Given the description of an element on the screen output the (x, y) to click on. 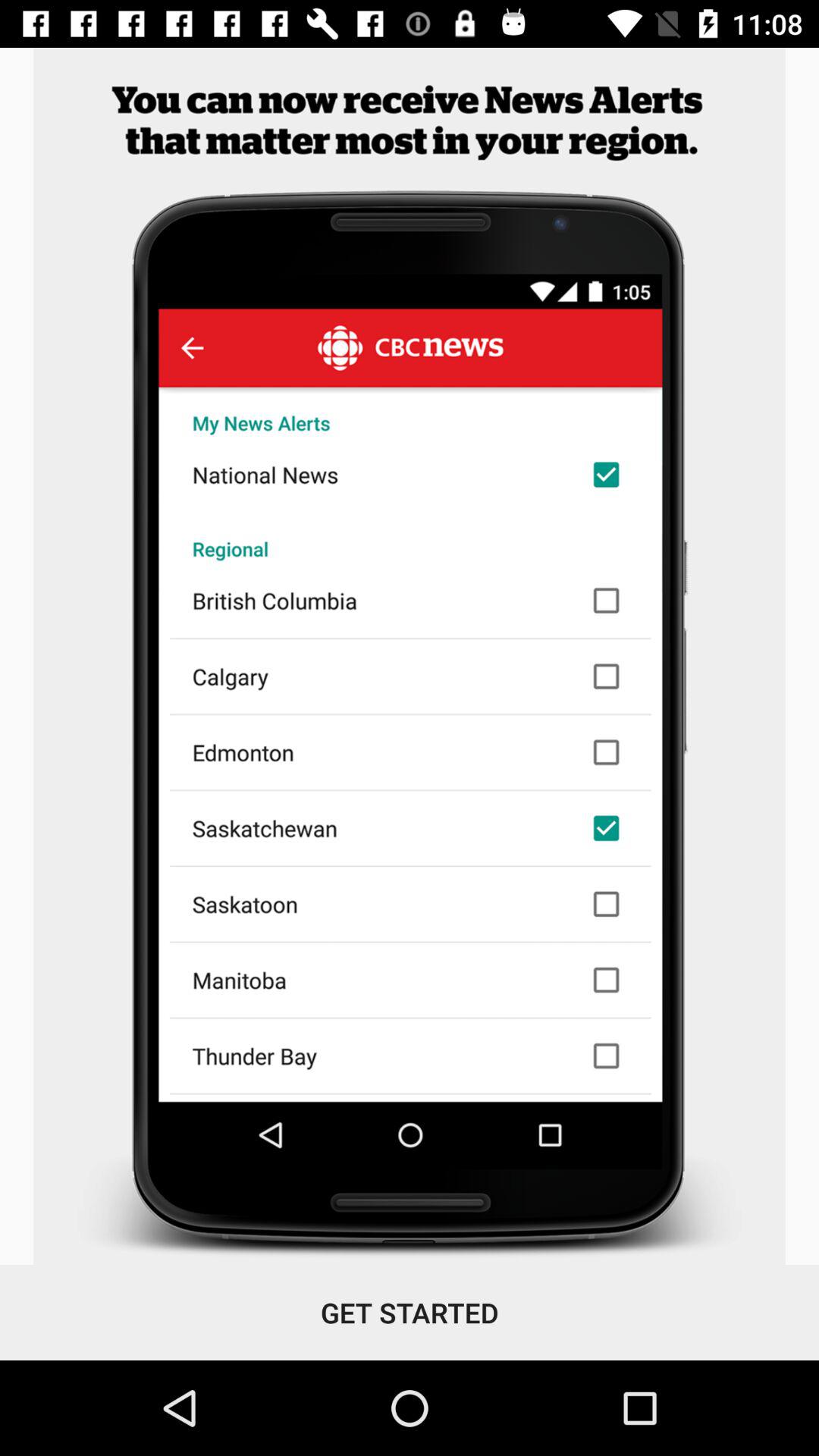
jump until get started button (409, 1312)
